Given the description of an element on the screen output the (x, y) to click on. 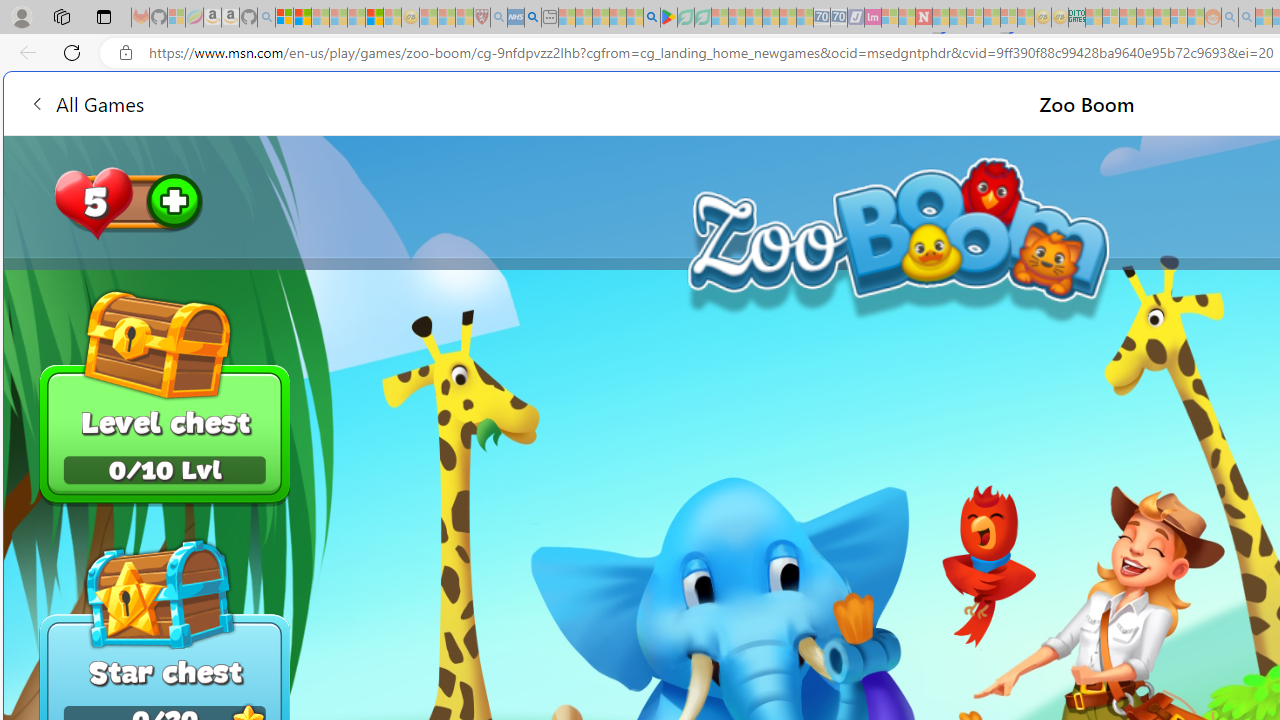
Local - MSN - Sleeping (464, 17)
